Given the description of an element on the screen output the (x, y) to click on. 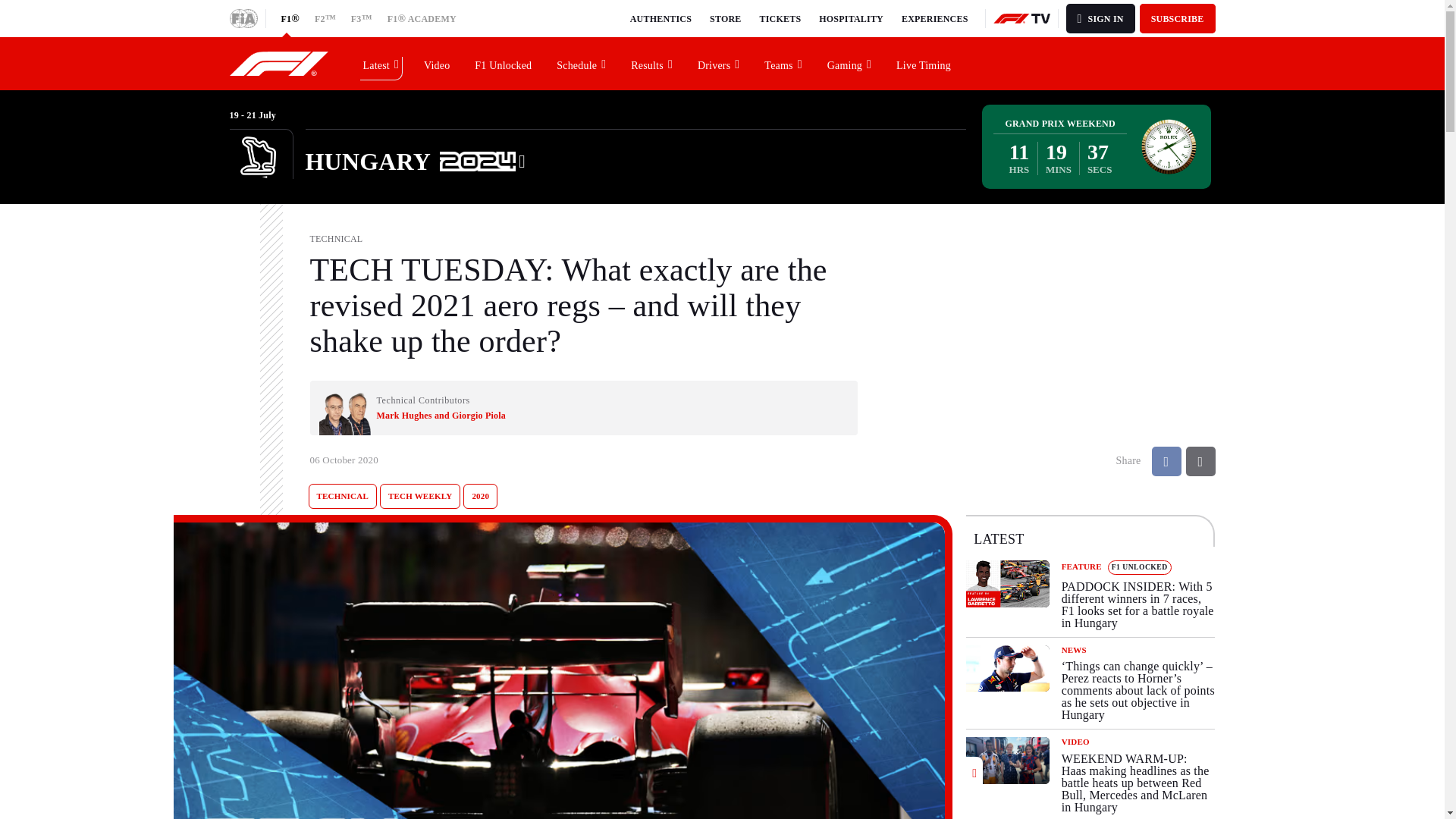
Latest (380, 63)
Drivers (718, 63)
SIGN IN (1100, 18)
SUBSCRIBE (1177, 18)
AUTHENTICS (660, 18)
Schedule (581, 63)
Video (437, 63)
TECH WEEKLY (420, 496)
EXPERIENCES (934, 18)
TICKETS (781, 18)
TECHNICAL (341, 496)
HOSPITALITY (850, 18)
Live Timing (923, 63)
